Given the description of an element on the screen output the (x, y) to click on. 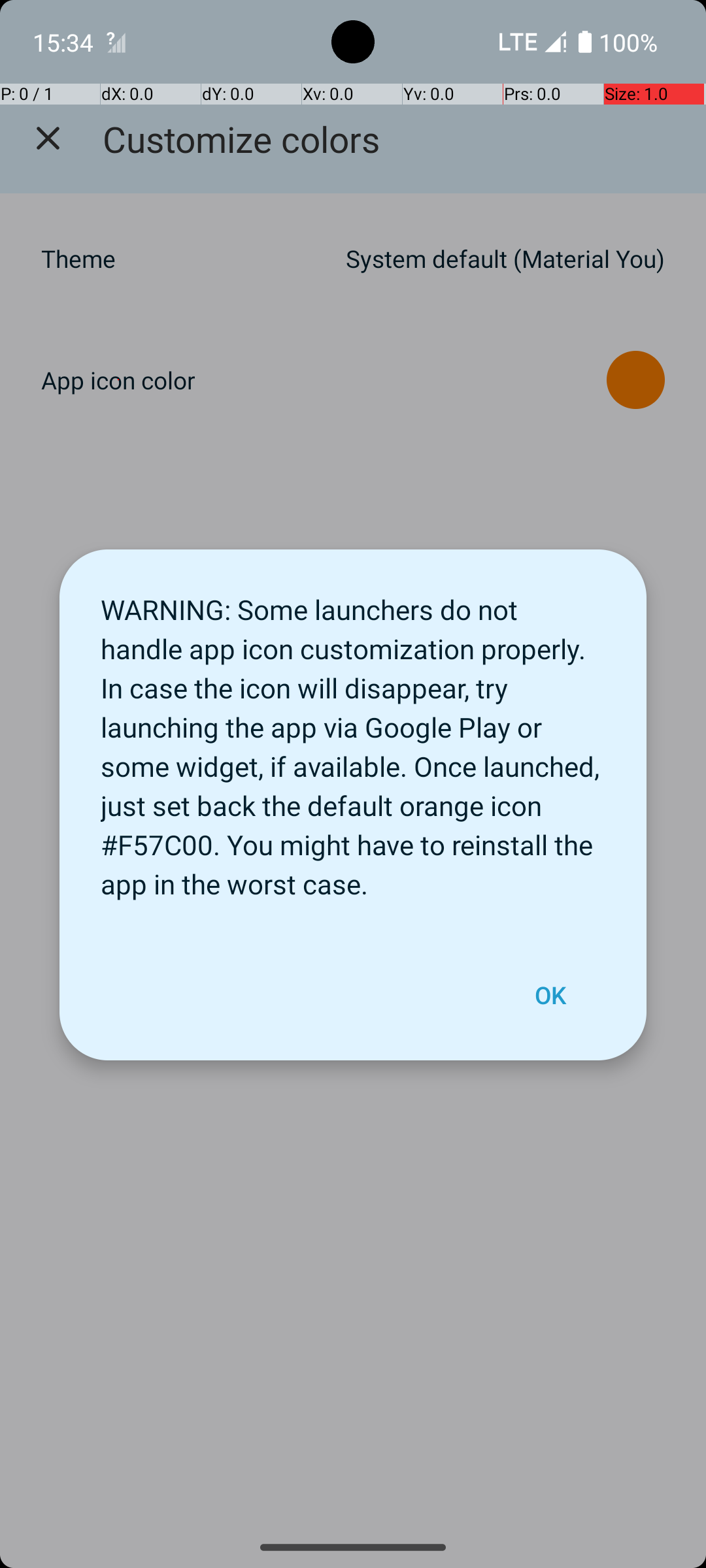
WARNING: Some launchers do not handle app icon customization properly. In case the icon will disappear, try launching the app via Google Play or some widget, if available. Once launched, just set back the default orange icon #F57C00. You might have to reinstall the app in the worst case. Element type: android.widget.TextView (352, 739)
